Given the description of an element on the screen output the (x, y) to click on. 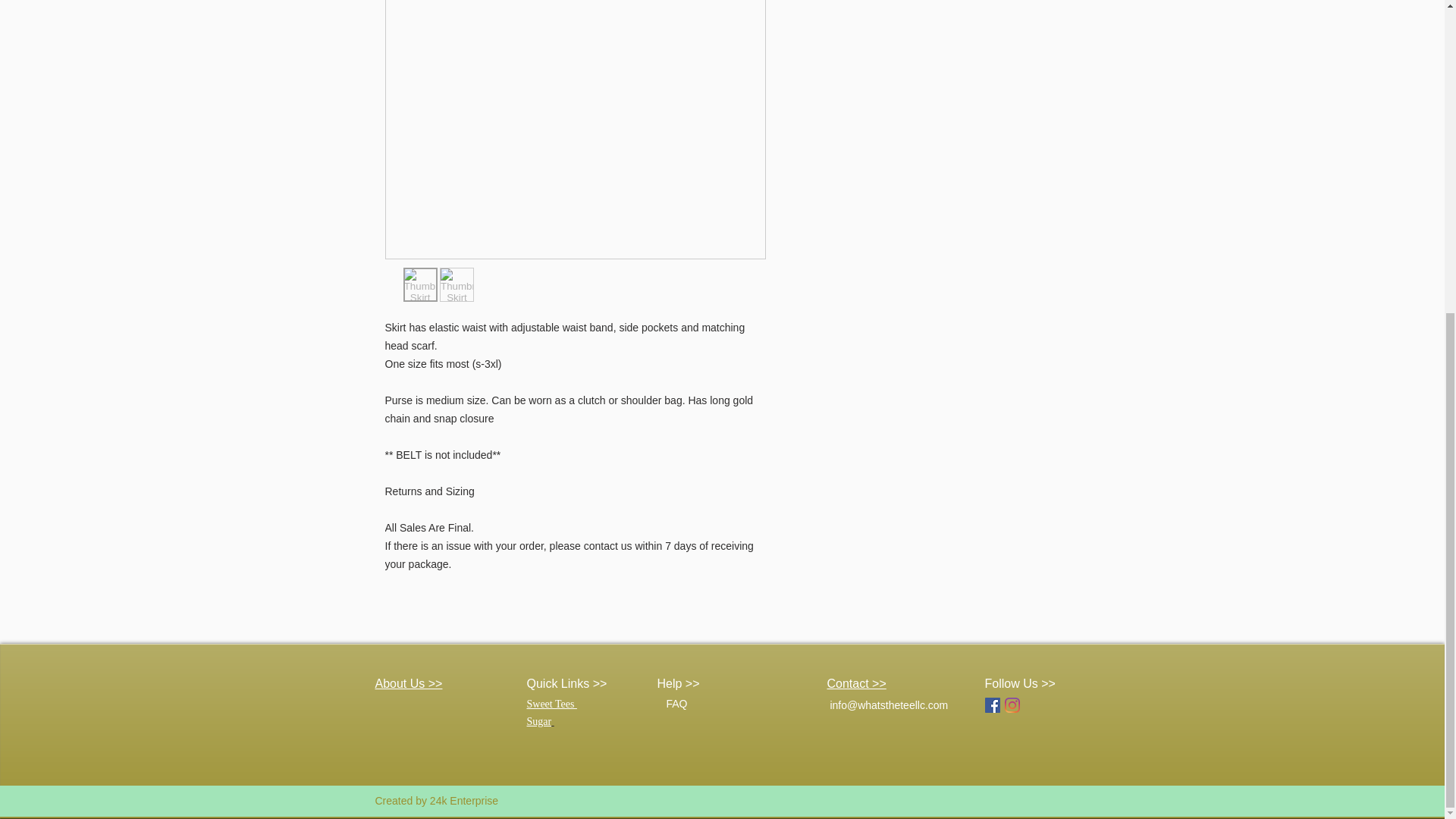
Sweet Tees  (550, 703)
FAQ  (677, 703)
Sugar  (539, 721)
